Given the description of an element on the screen output the (x, y) to click on. 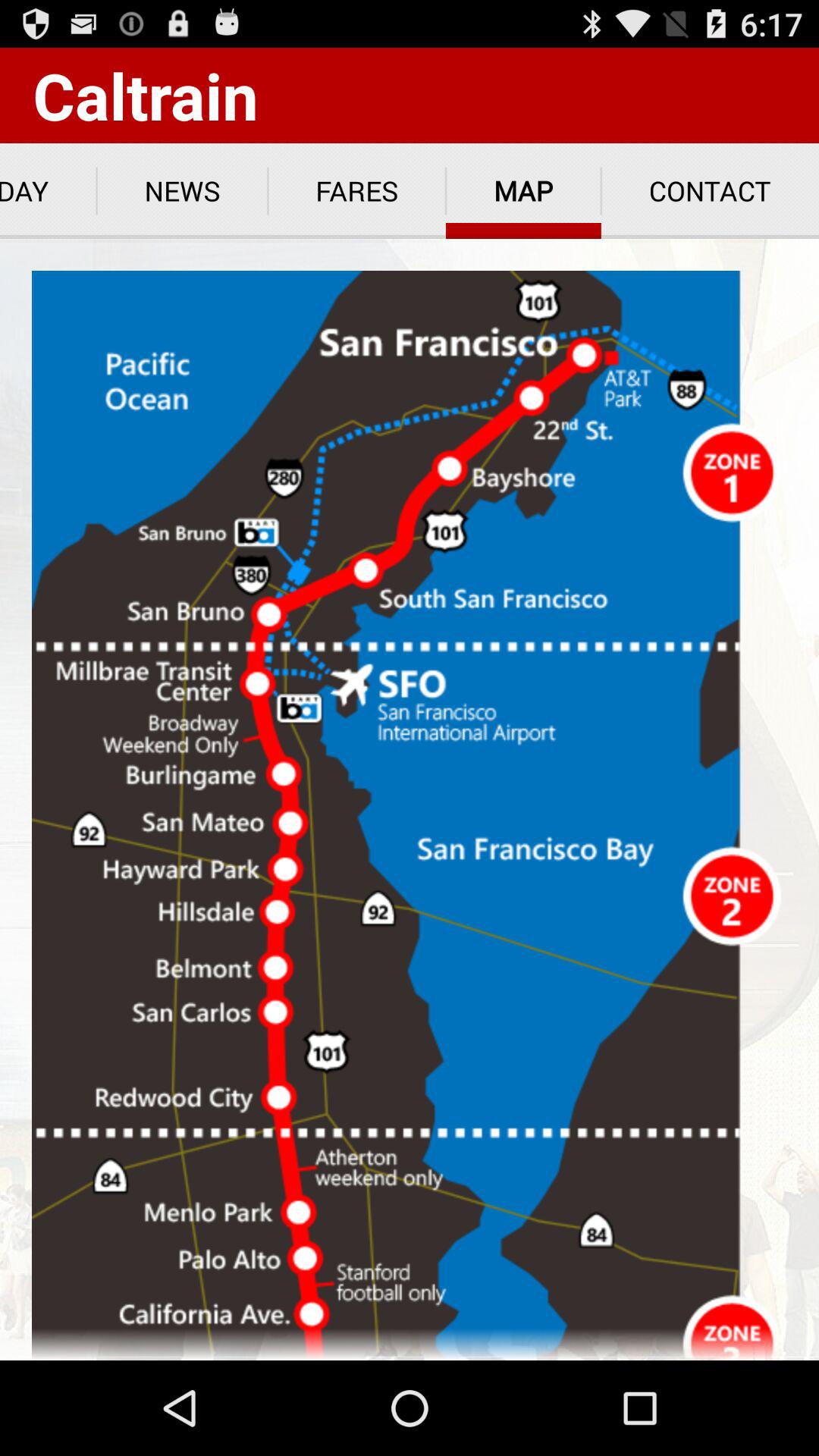
turn off icon next to the news icon (48, 190)
